Given the description of an element on the screen output the (x, y) to click on. 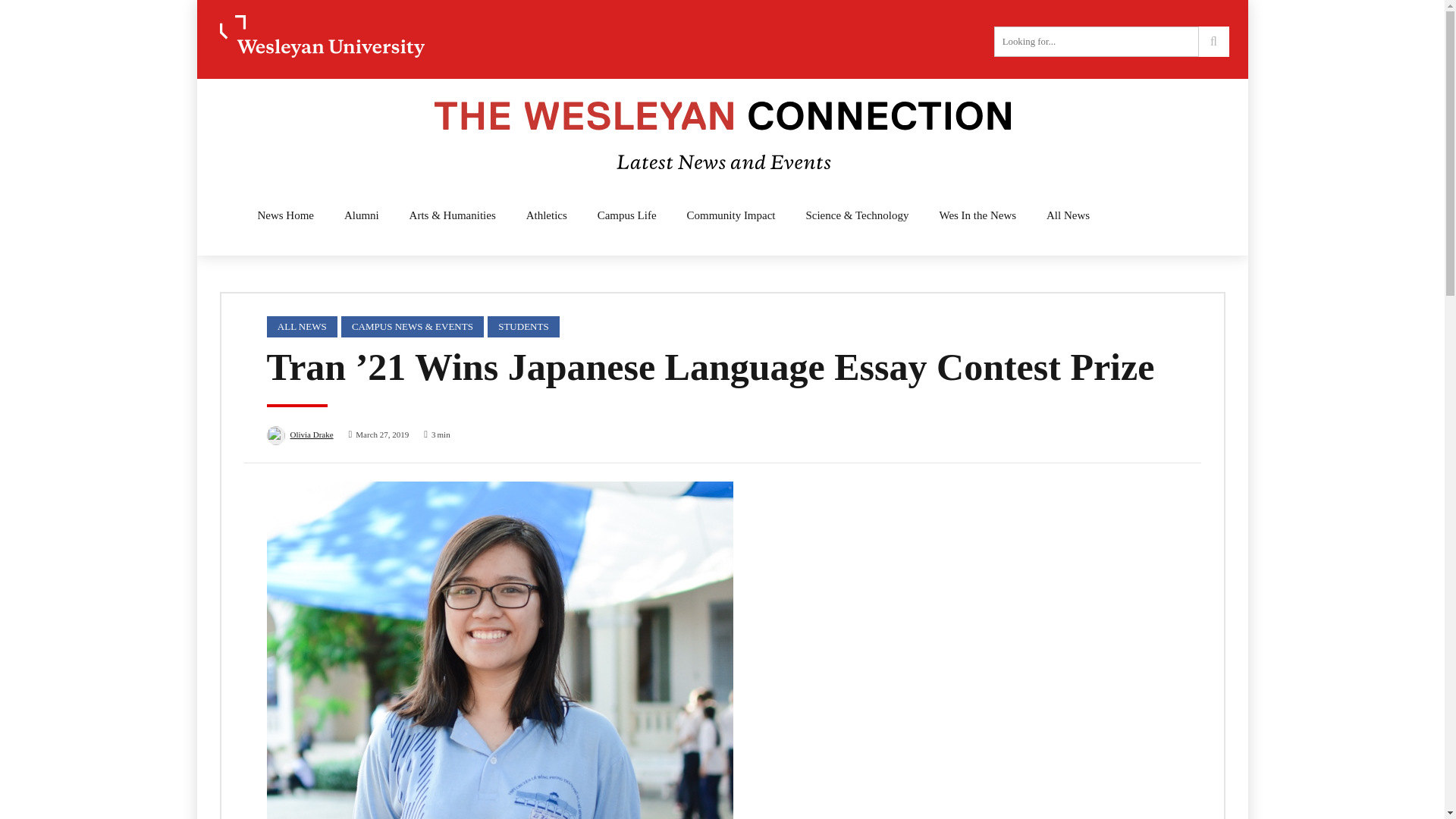
Alumni (361, 215)
Olivia Drake (307, 436)
Community Impact (730, 215)
Campus Life (626, 215)
STUDENTS (523, 326)
All News (1067, 215)
Athletics (546, 215)
ALL NEWS (301, 326)
News Home (286, 215)
Wes In the News (976, 215)
